Given the description of an element on the screen output the (x, y) to click on. 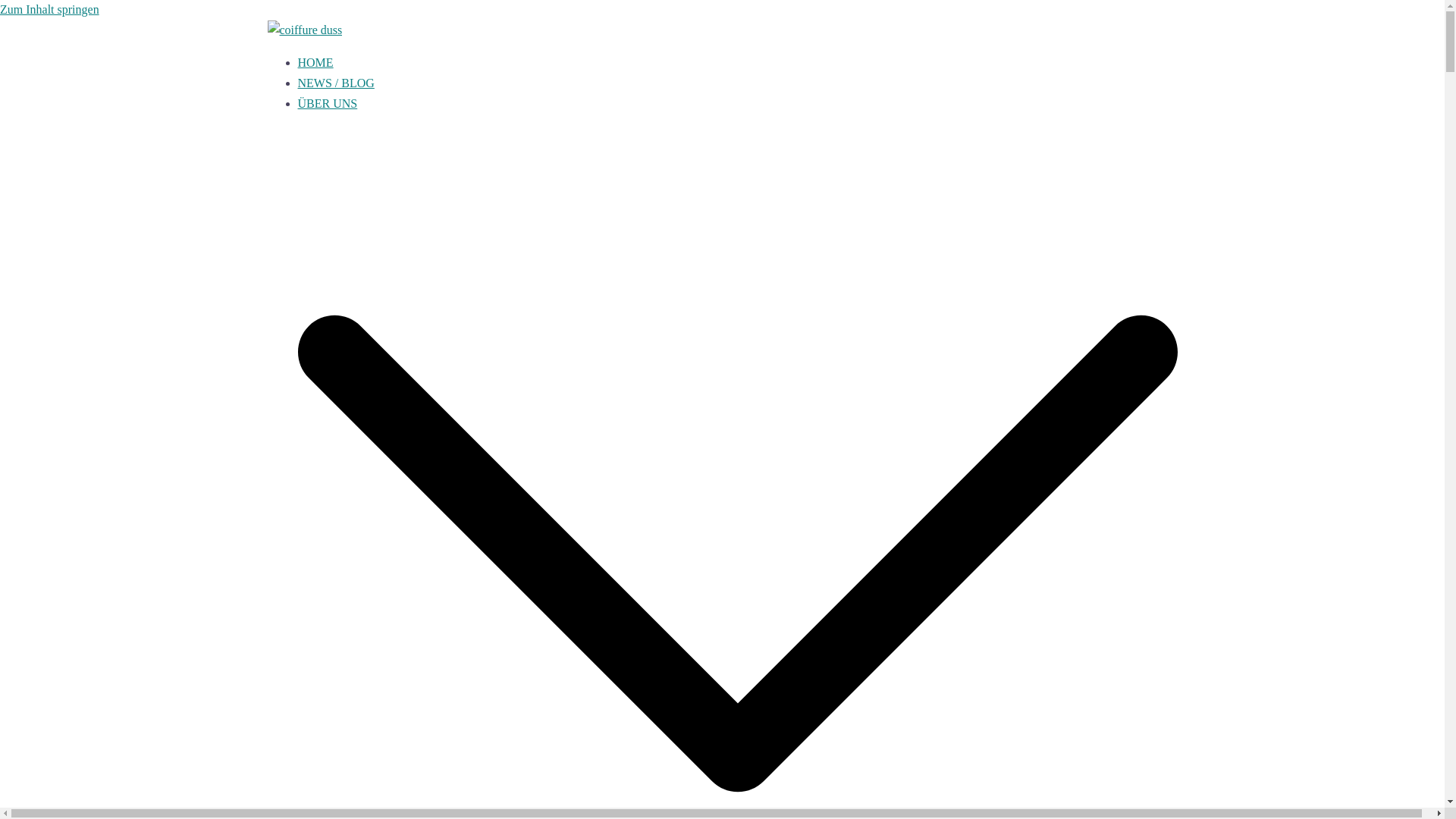
coiffure duss Element type: hover (304, 29)
HOME Element type: text (314, 62)
NEWS / BLOG Element type: text (335, 82)
Zum Inhalt springen Element type: text (49, 9)
